Given the description of an element on the screen output the (x, y) to click on. 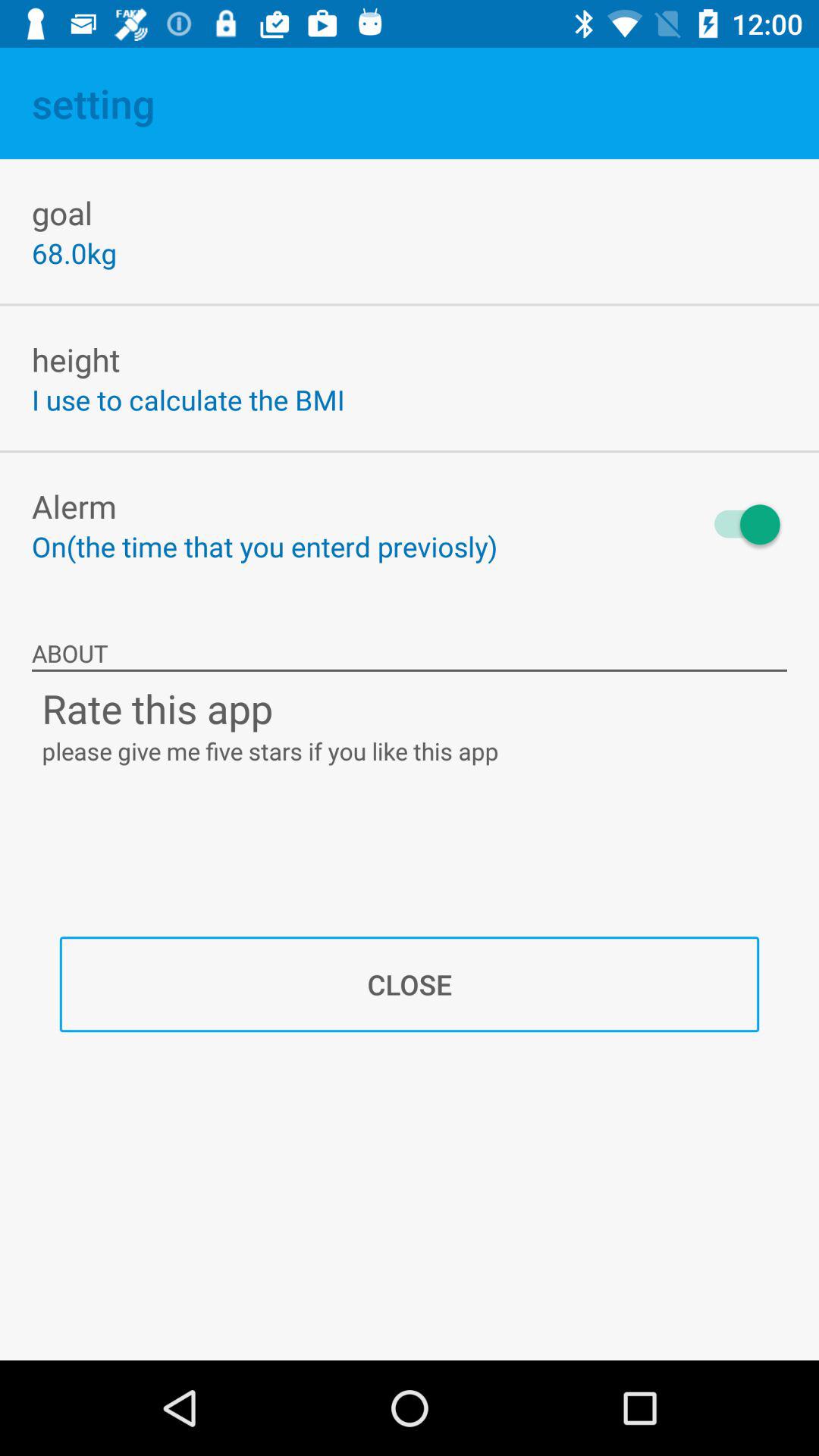
jump to close item (409, 984)
